Given the description of an element on the screen output the (x, y) to click on. 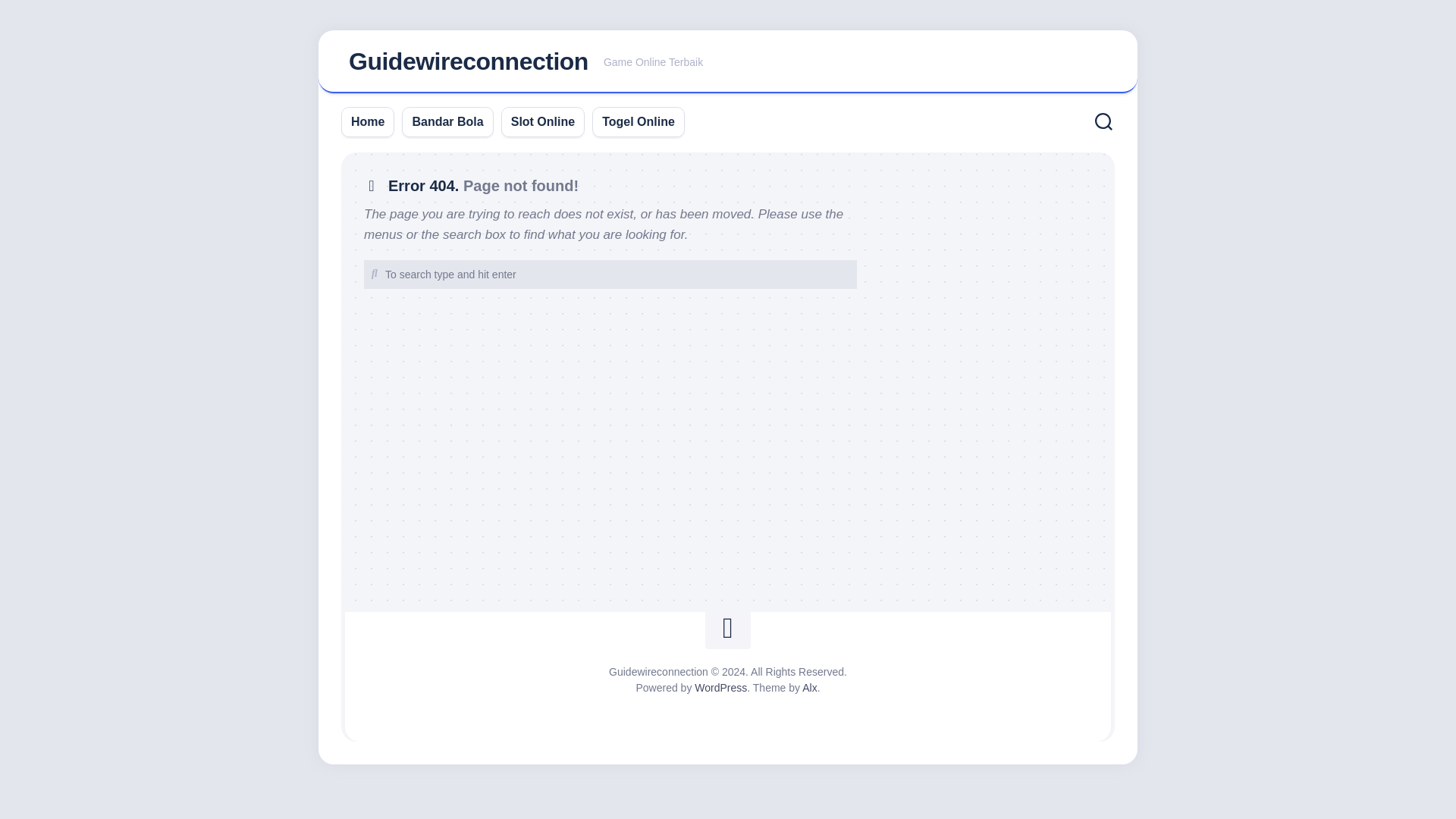
Togel Online (638, 121)
Alx (809, 687)
Bandar Bola (447, 121)
To search type and hit enter (610, 274)
Slot Online (543, 121)
Guidewireconnection (468, 61)
WordPress (720, 687)
To search type and hit enter (727, 62)
Home (610, 274)
